Given the description of an element on the screen output the (x, y) to click on. 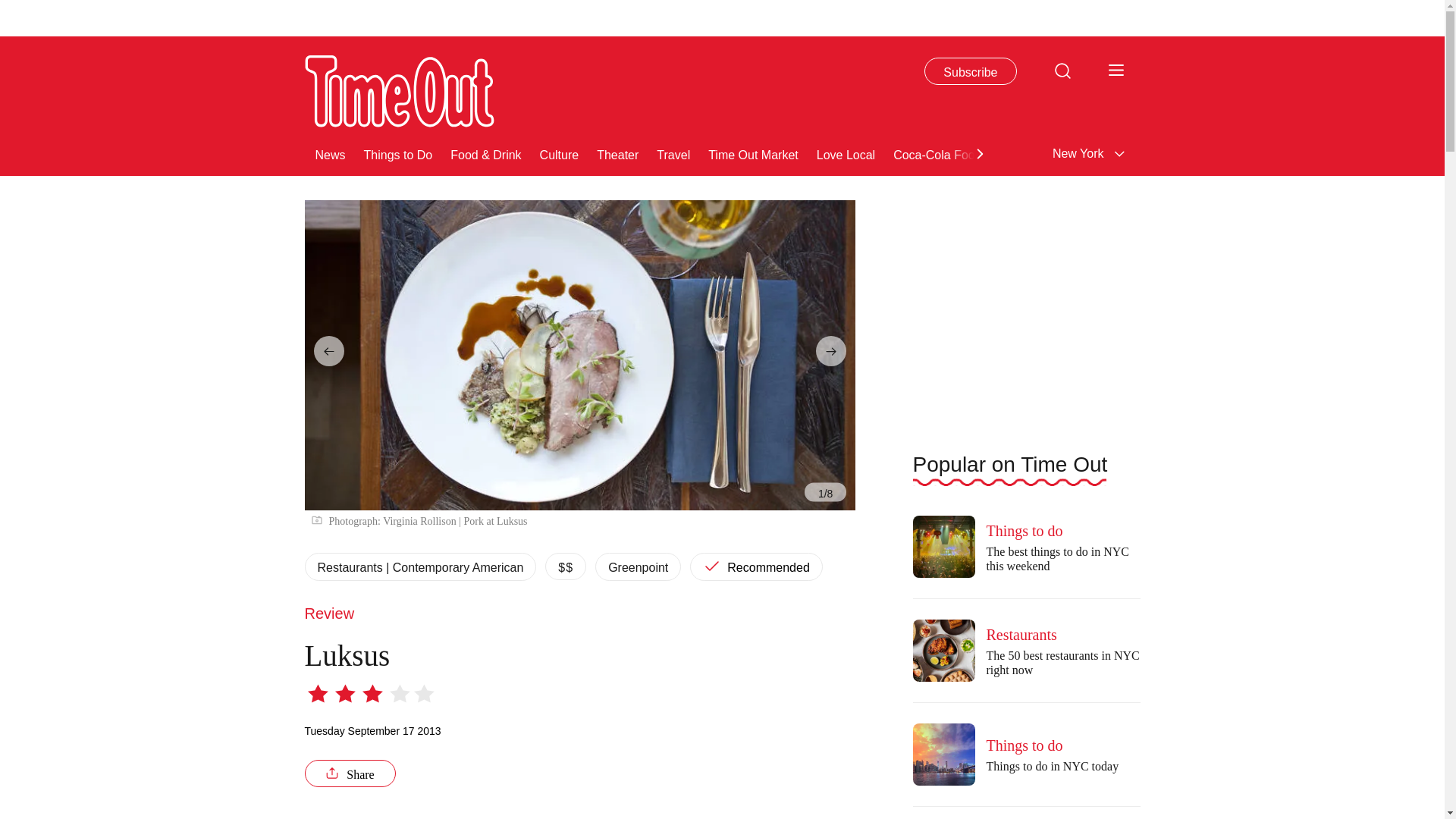
Culture (559, 153)
Time Out Market (752, 153)
Music (1293, 153)
Attractions (1103, 153)
Travel (673, 153)
Things to Do (397, 153)
Go to the content (10, 7)
Theater (617, 153)
Coca-Cola Foodmarks (953, 153)
Museums (1176, 153)
